Given the description of an element on the screen output the (x, y) to click on. 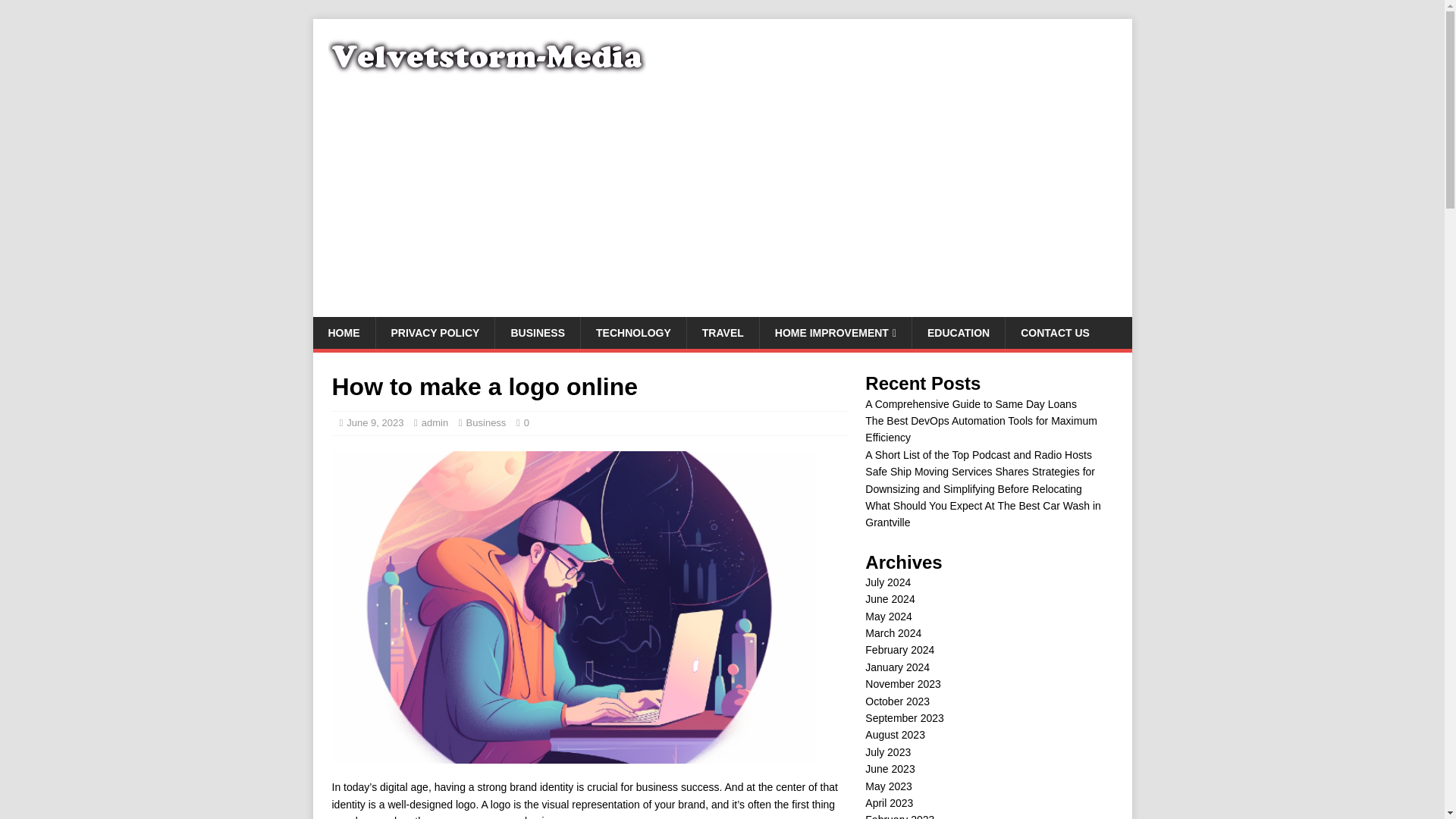
EDUCATION (957, 332)
HOME IMPROVEMENT (834, 332)
July 2024 (887, 582)
Business (485, 422)
PRIVACY POLICY (434, 332)
CONTACT US (1054, 332)
What Should You Expect At The Best Car Wash in Grantville (982, 513)
TECHNOLOGY (632, 332)
June 9, 2023 (374, 422)
admin (435, 422)
HOME (343, 332)
A Comprehensive Guide to Same Day Loans (970, 404)
